Given the description of an element on the screen output the (x, y) to click on. 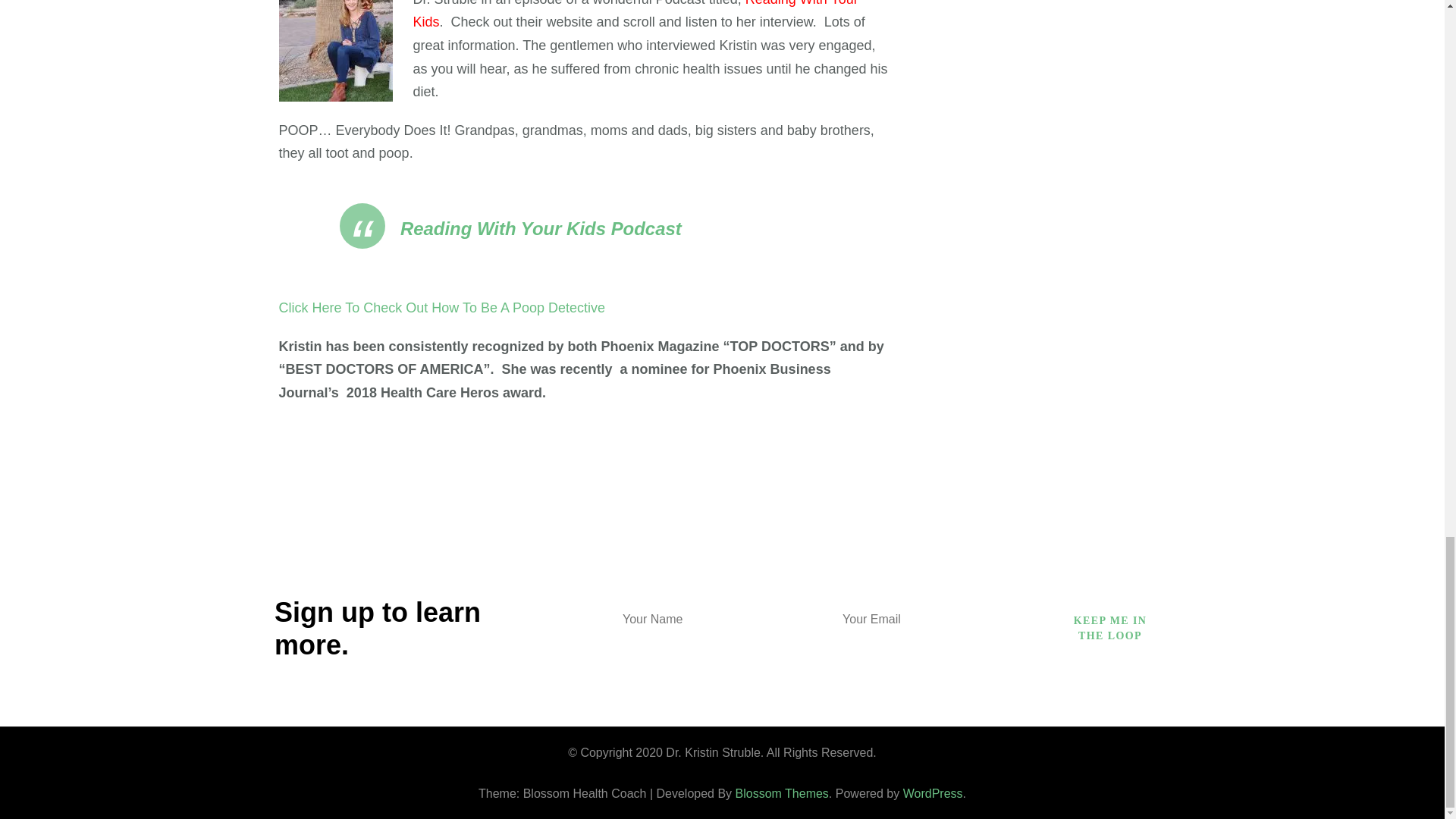
Keep Me In the Loop (1109, 628)
Keep Me In the Loop (1109, 628)
WordPress (932, 793)
Click Here To Check Out How To Be A Poop Detective (442, 307)
Reading With Your Kids Podcast (540, 228)
Blossom Themes (781, 793)
